Given the description of an element on the screen output the (x, y) to click on. 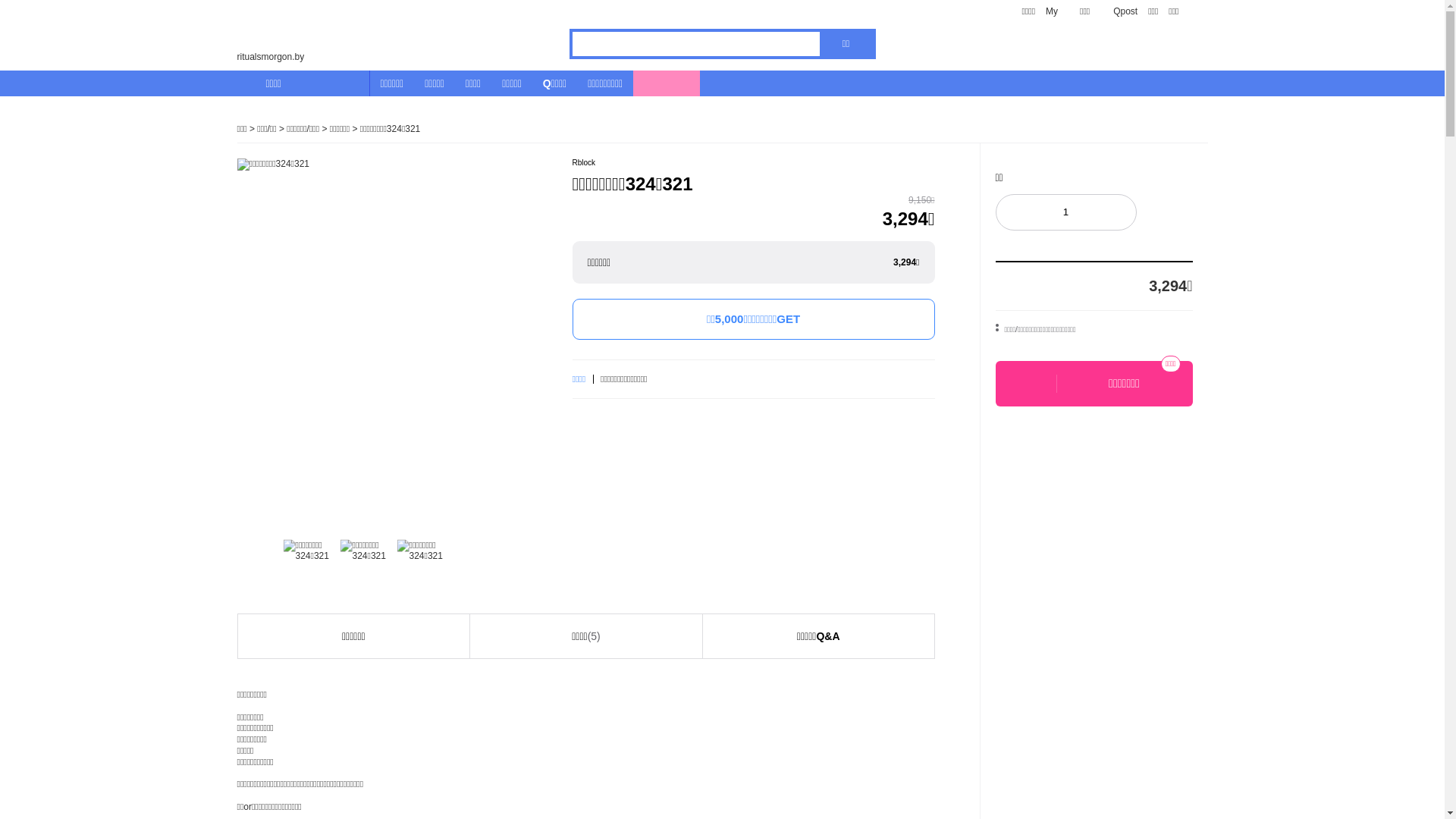
MOVE Element type: text (666, 83)
Qpost Element type: text (1118, 11)
My Element type: text (1051, 11)
